Given the description of an element on the screen output the (x, y) to click on. 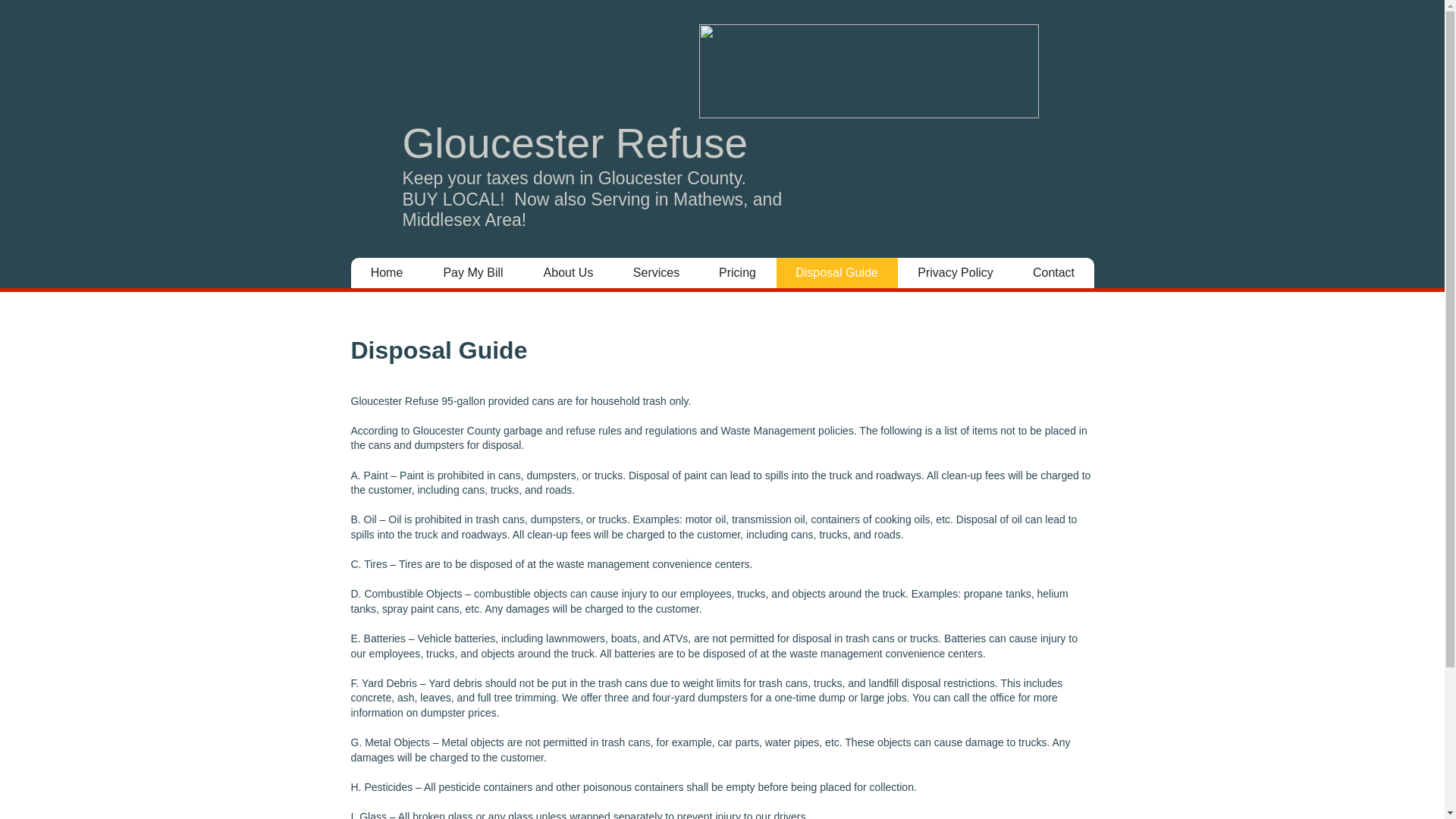
Pricing (737, 272)
Services (655, 272)
Disposal Guide (835, 272)
Privacy Policy (955, 272)
About Us (567, 272)
Pay My Bill (472, 272)
Contact (1053, 272)
Home (386, 272)
Gloucester Refuse (574, 143)
